Given the description of an element on the screen output the (x, y) to click on. 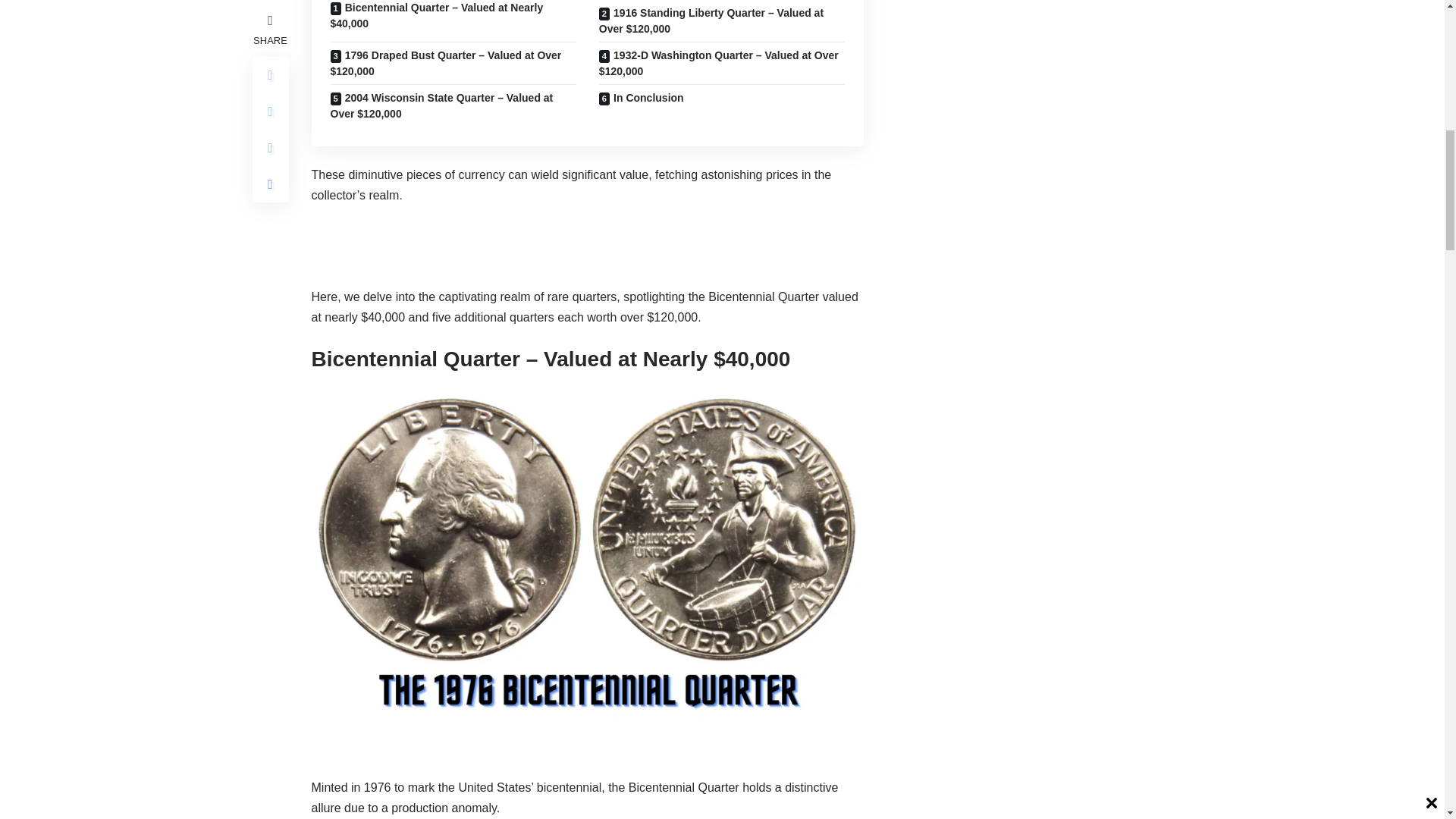
In Conclusion (722, 106)
